Given the description of an element on the screen output the (x, y) to click on. 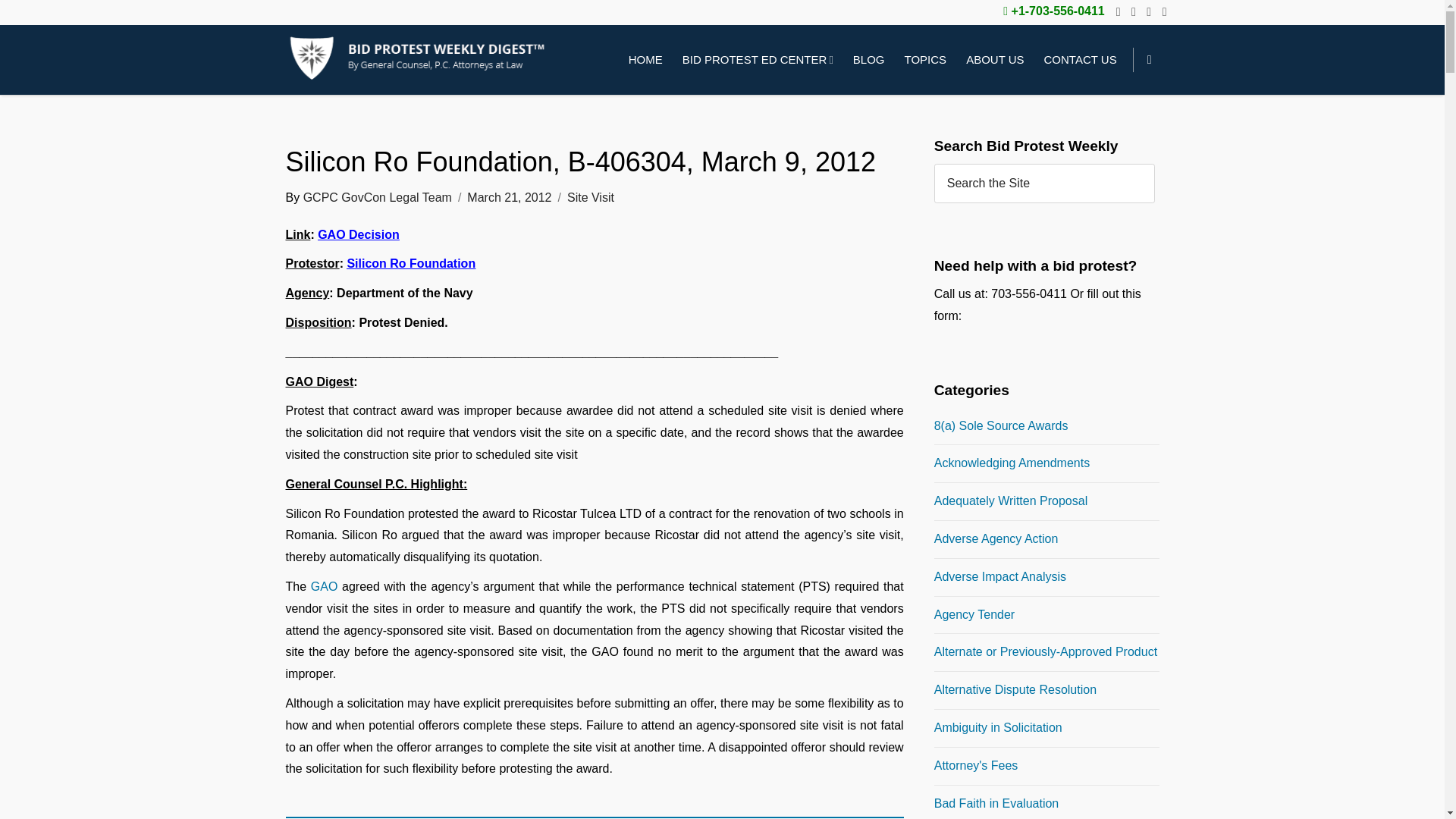
GCPC GovCon Legal Team (376, 196)
ABOUT US (994, 60)
GAO Decision (357, 234)
Silicon Ro Foundation (411, 263)
GAO (324, 585)
Site Visit (590, 196)
Acknowledging Amendments (1011, 462)
Adequately Written Proposal (1010, 500)
BID PROTEST ED CENTER (757, 60)
TOPICS (925, 60)
